Given the description of an element on the screen output the (x, y) to click on. 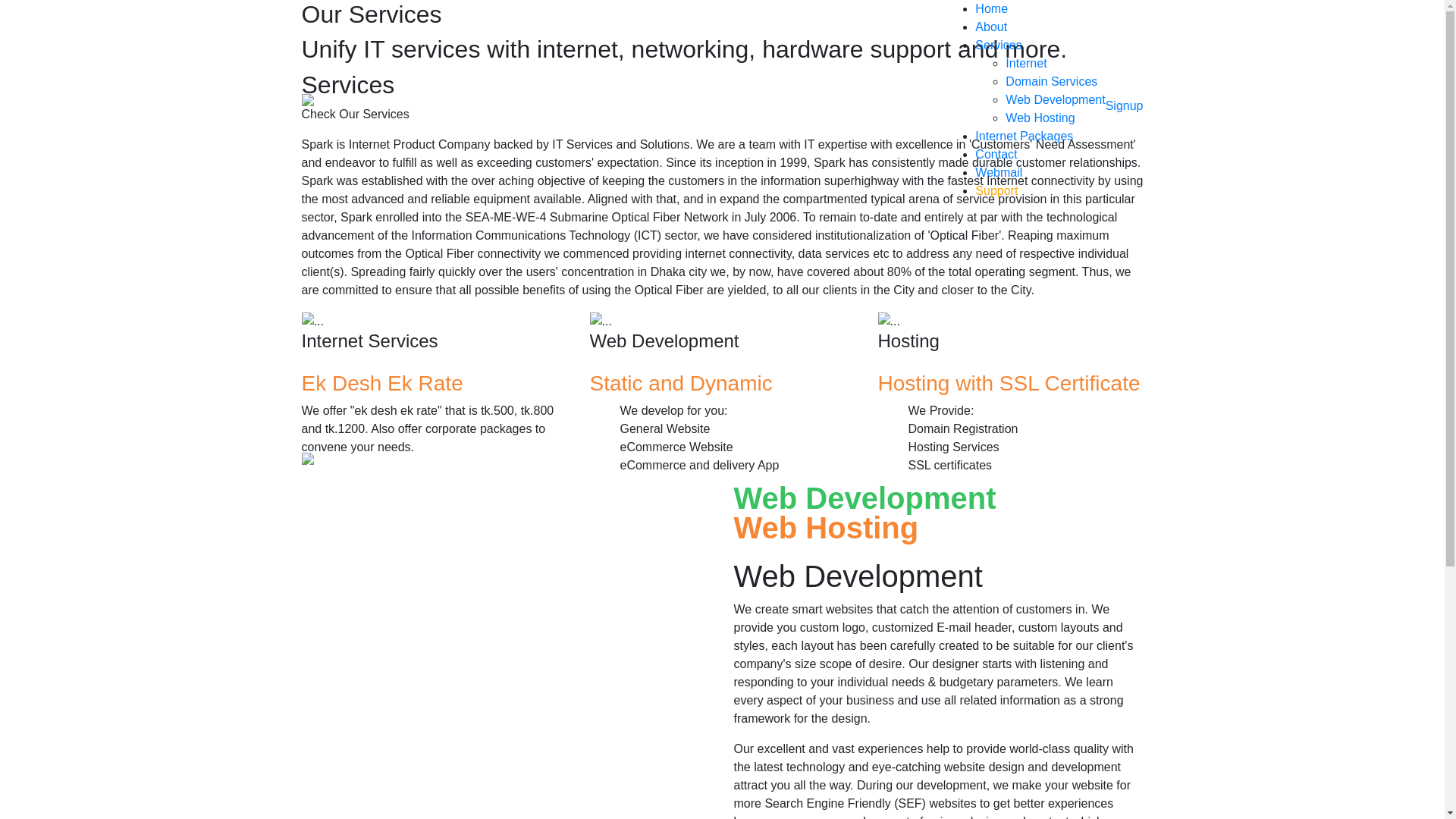
Contact Element type: text (995, 153)
Webmail Element type: text (998, 172)
Home Element type: text (991, 8)
Services Element type: text (998, 44)
Signup Element type: text (1124, 106)
Domain Services Element type: text (1051, 81)
Support Element type: text (996, 190)
About Element type: text (991, 26)
Internet Element type: text (1025, 62)
Internet Packages Element type: text (1024, 135)
Web Development Element type: text (1054, 99)
Web Hosting Element type: text (1039, 117)
